Given the description of an element on the screen output the (x, y) to click on. 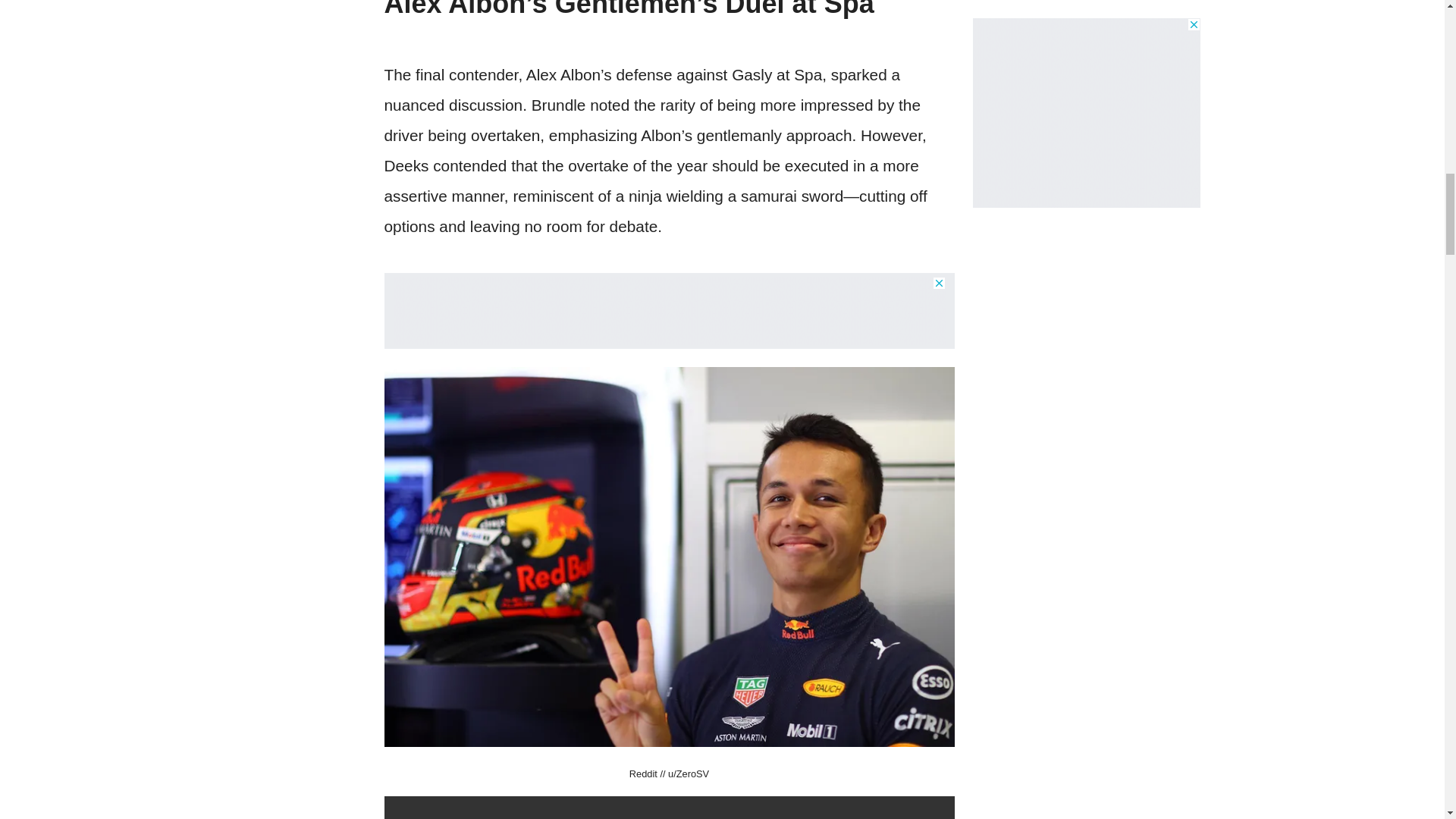
3rd party ad content (668, 310)
3rd party ad content (1085, 29)
